Given the description of an element on the screen output the (x, y) to click on. 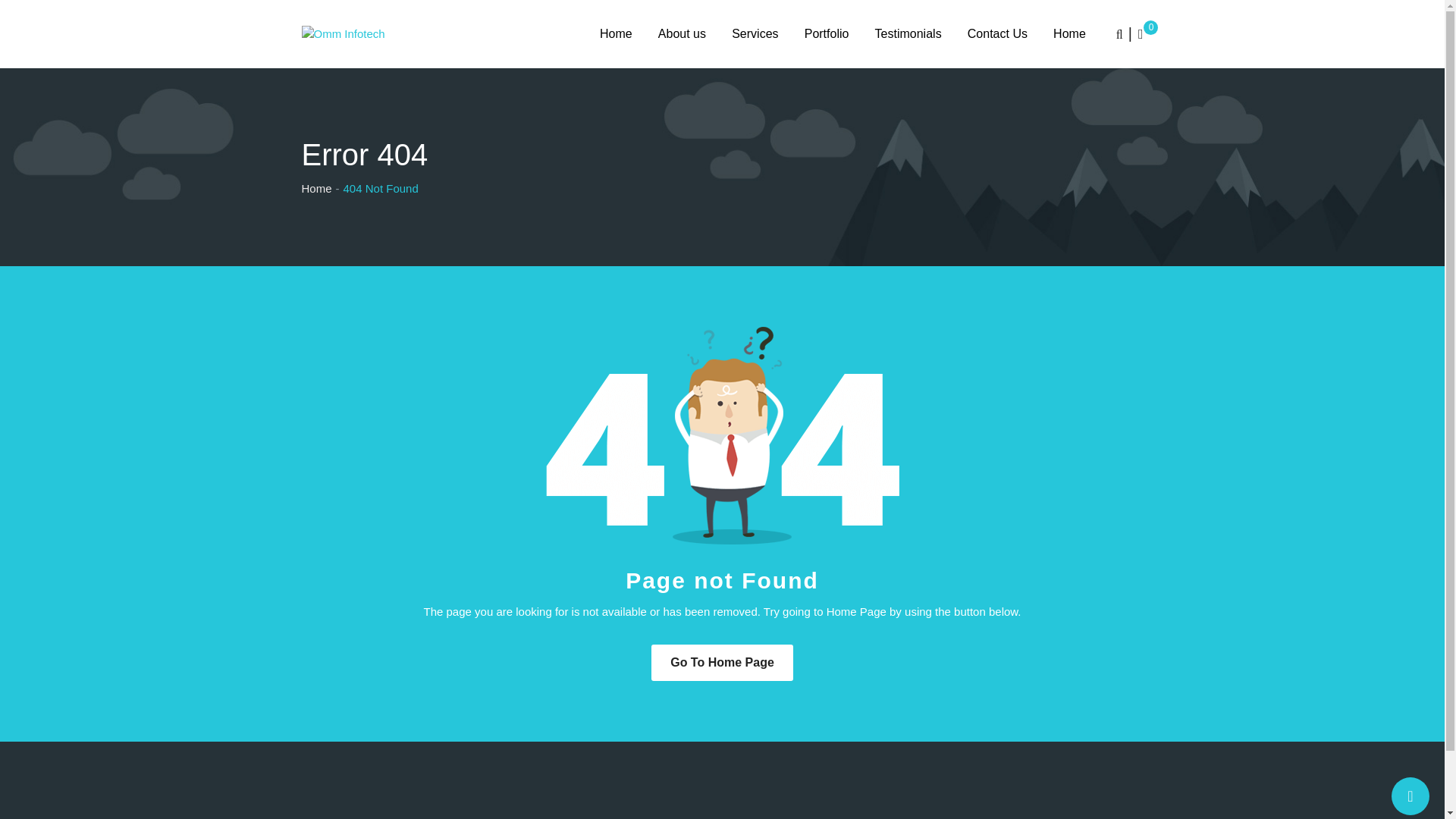
Testimonials (908, 33)
Contact Us (997, 33)
Portfolio (826, 33)
About us (681, 33)
Services (754, 33)
